Given the description of an element on the screen output the (x, y) to click on. 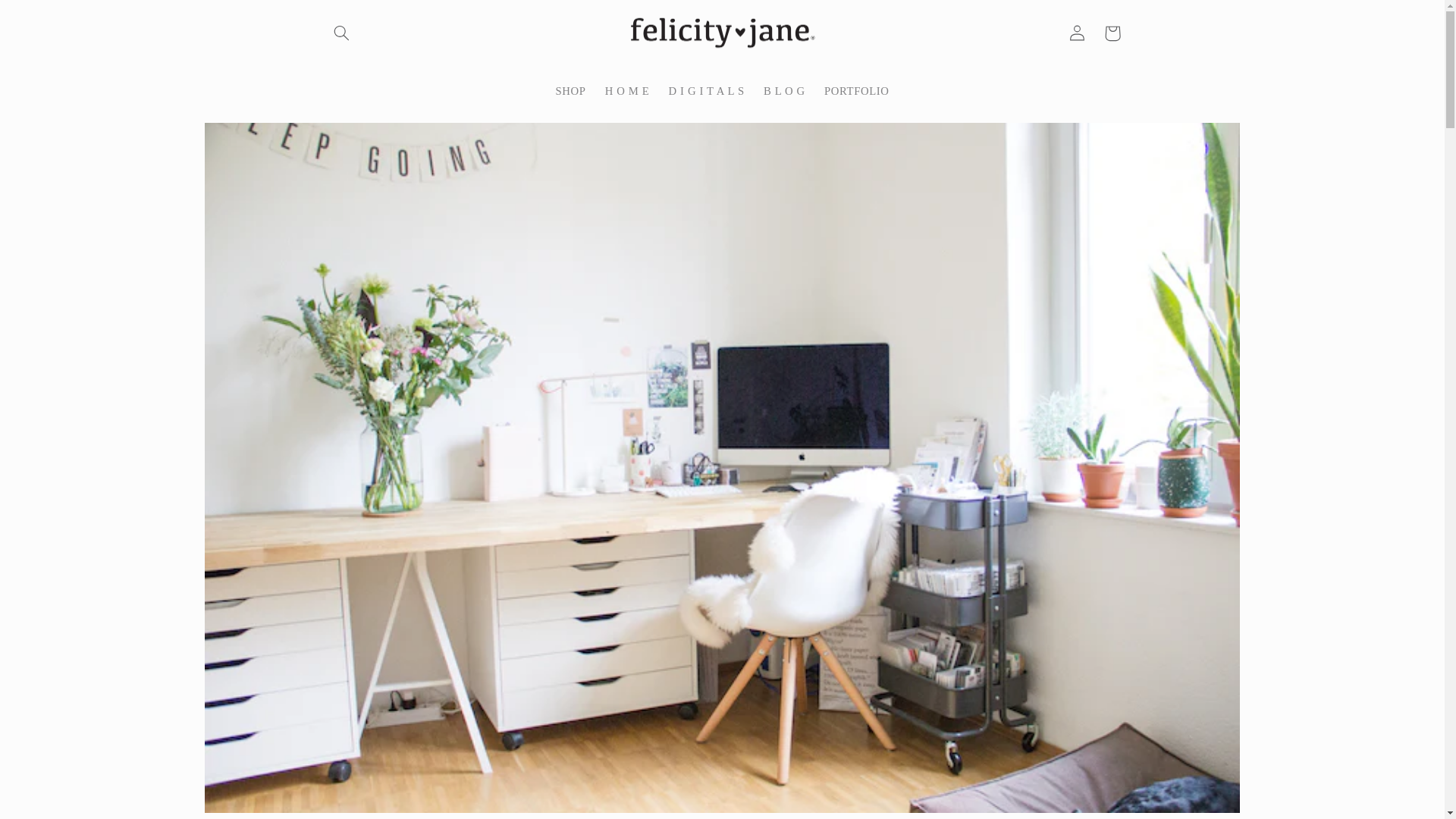
PORTFOLIO (855, 90)
D I G I T A L S (706, 90)
Cart (1111, 32)
H O M E (627, 90)
B L O G (783, 90)
Skip to content (48, 18)
SHOP (570, 90)
Log in (1076, 32)
